Given the description of an element on the screen output the (x, y) to click on. 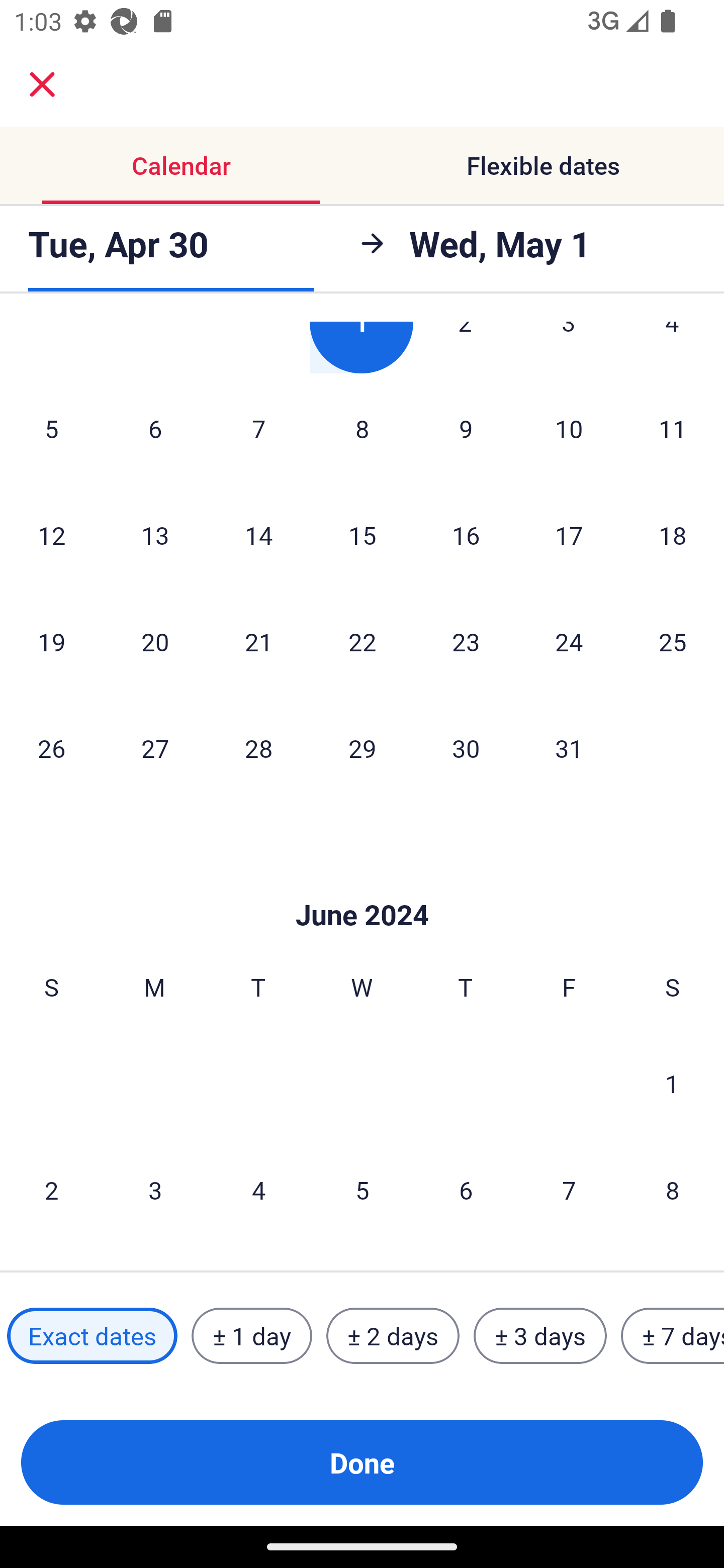
close. (42, 84)
Flexible dates (542, 164)
5 Sunday, May 5, 2024 (51, 427)
6 Monday, May 6, 2024 (155, 427)
7 Tuesday, May 7, 2024 (258, 427)
8 Wednesday, May 8, 2024 (362, 427)
9 Thursday, May 9, 2024 (465, 427)
10 Friday, May 10, 2024 (569, 427)
11 Saturday, May 11, 2024 (672, 427)
12 Sunday, May 12, 2024 (51, 534)
13 Monday, May 13, 2024 (155, 534)
14 Tuesday, May 14, 2024 (258, 534)
15 Wednesday, May 15, 2024 (362, 534)
16 Thursday, May 16, 2024 (465, 534)
17 Friday, May 17, 2024 (569, 534)
18 Saturday, May 18, 2024 (672, 534)
19 Sunday, May 19, 2024 (51, 641)
20 Monday, May 20, 2024 (155, 641)
21 Tuesday, May 21, 2024 (258, 641)
22 Wednesday, May 22, 2024 (362, 641)
23 Thursday, May 23, 2024 (465, 641)
24 Friday, May 24, 2024 (569, 641)
25 Saturday, May 25, 2024 (672, 641)
26 Sunday, May 26, 2024 (51, 747)
27 Monday, May 27, 2024 (155, 747)
28 Tuesday, May 28, 2024 (258, 747)
29 Wednesday, May 29, 2024 (362, 747)
30 Thursday, May 30, 2024 (465, 747)
31 Friday, May 31, 2024 (569, 747)
Skip to Done (362, 884)
1 Saturday, June 1, 2024 (672, 1083)
2 Sunday, June 2, 2024 (51, 1189)
3 Monday, June 3, 2024 (155, 1189)
4 Tuesday, June 4, 2024 (258, 1189)
5 Wednesday, June 5, 2024 (362, 1189)
6 Thursday, June 6, 2024 (465, 1189)
7 Friday, June 7, 2024 (569, 1189)
8 Saturday, June 8, 2024 (672, 1189)
Exact dates (92, 1335)
± 1 day (251, 1335)
± 2 days (392, 1335)
± 3 days (539, 1335)
± 7 days (672, 1335)
Done (361, 1462)
